Given the description of an element on the screen output the (x, y) to click on. 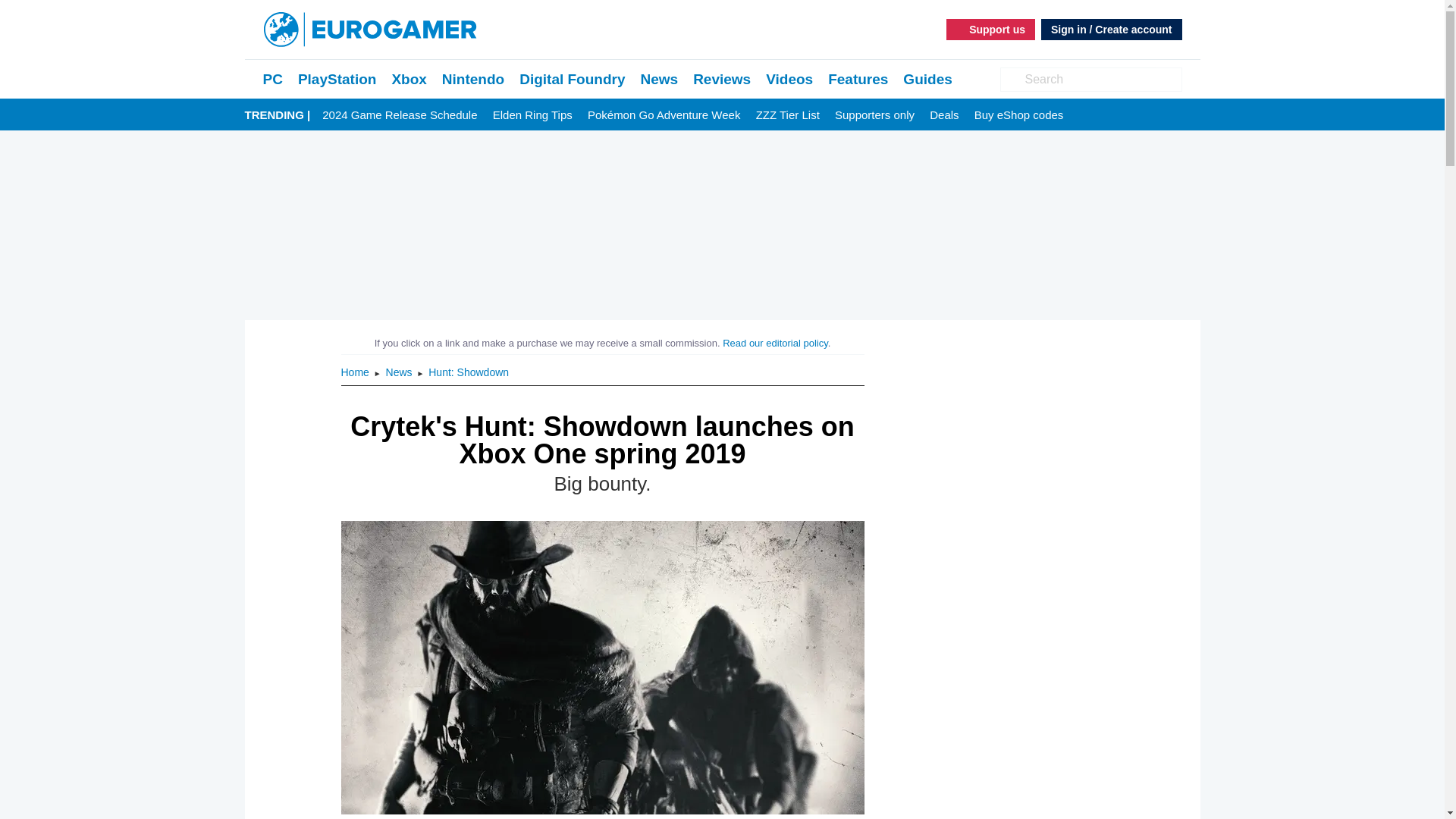
Digital Foundry (571, 78)
Supporters only (874, 114)
Elden Ring Tips (532, 114)
2024 Game Release Schedule (399, 114)
News (659, 78)
Support us (990, 29)
ZZZ Tier List (787, 114)
Guides (927, 78)
ZZZ Tier List (787, 114)
PlayStation (336, 78)
